Given the description of an element on the screen output the (x, y) to click on. 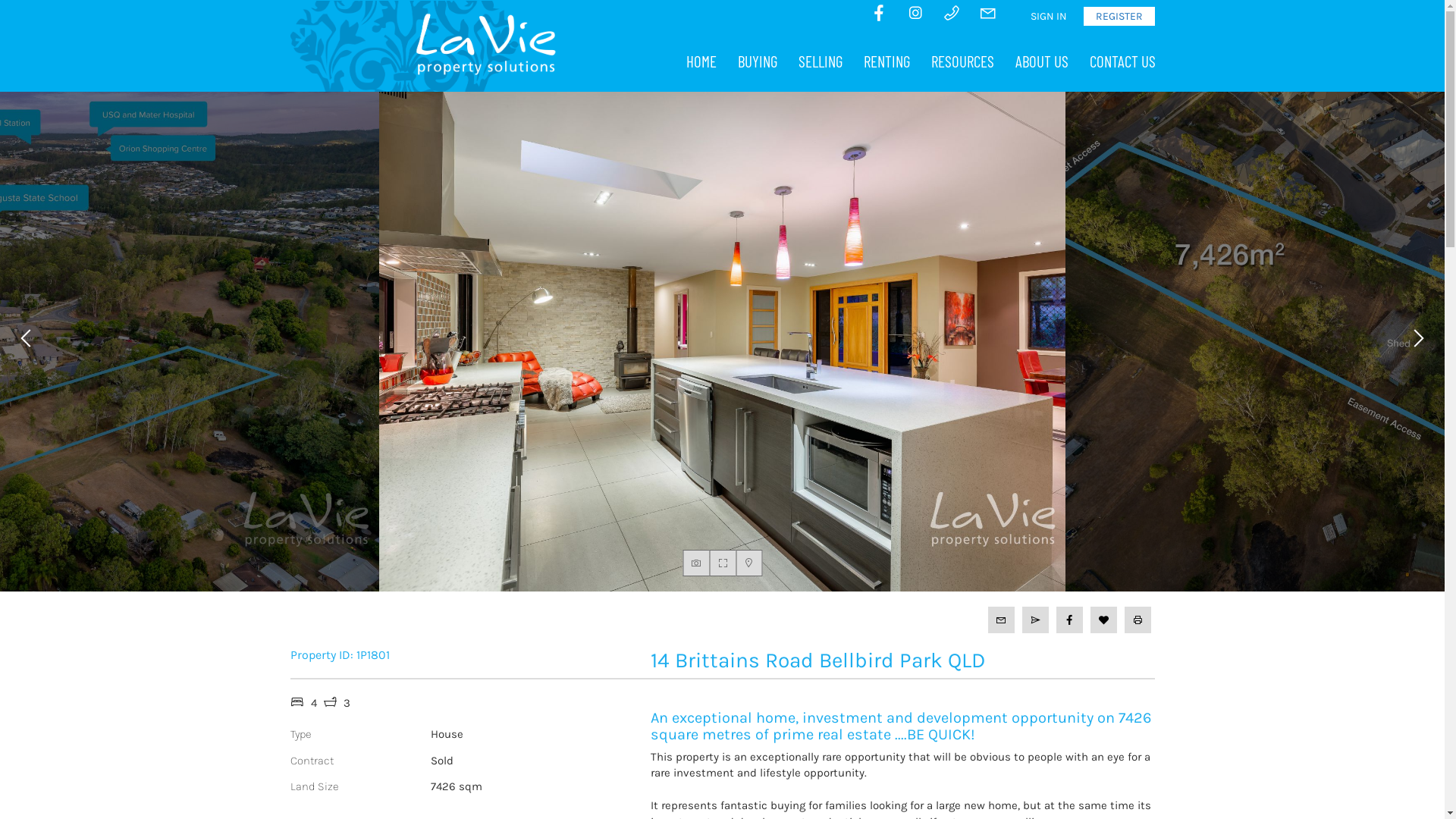
Email to Friend Element type: hover (1035, 619)
ABOUT US Element type: text (1041, 61)
SIGN IN Element type: text (1047, 15)
RESOURCES Element type: text (962, 61)
REGISTER Element type: text (1118, 15)
Email to Agent Element type: hover (1000, 619)
HOME Element type: text (700, 61)
BUYING Element type: text (756, 61)
CONTACT US Element type: text (1121, 61)
RENTING Element type: text (885, 61)
SELLING Element type: text (819, 61)
